Given the description of an element on the screen output the (x, y) to click on. 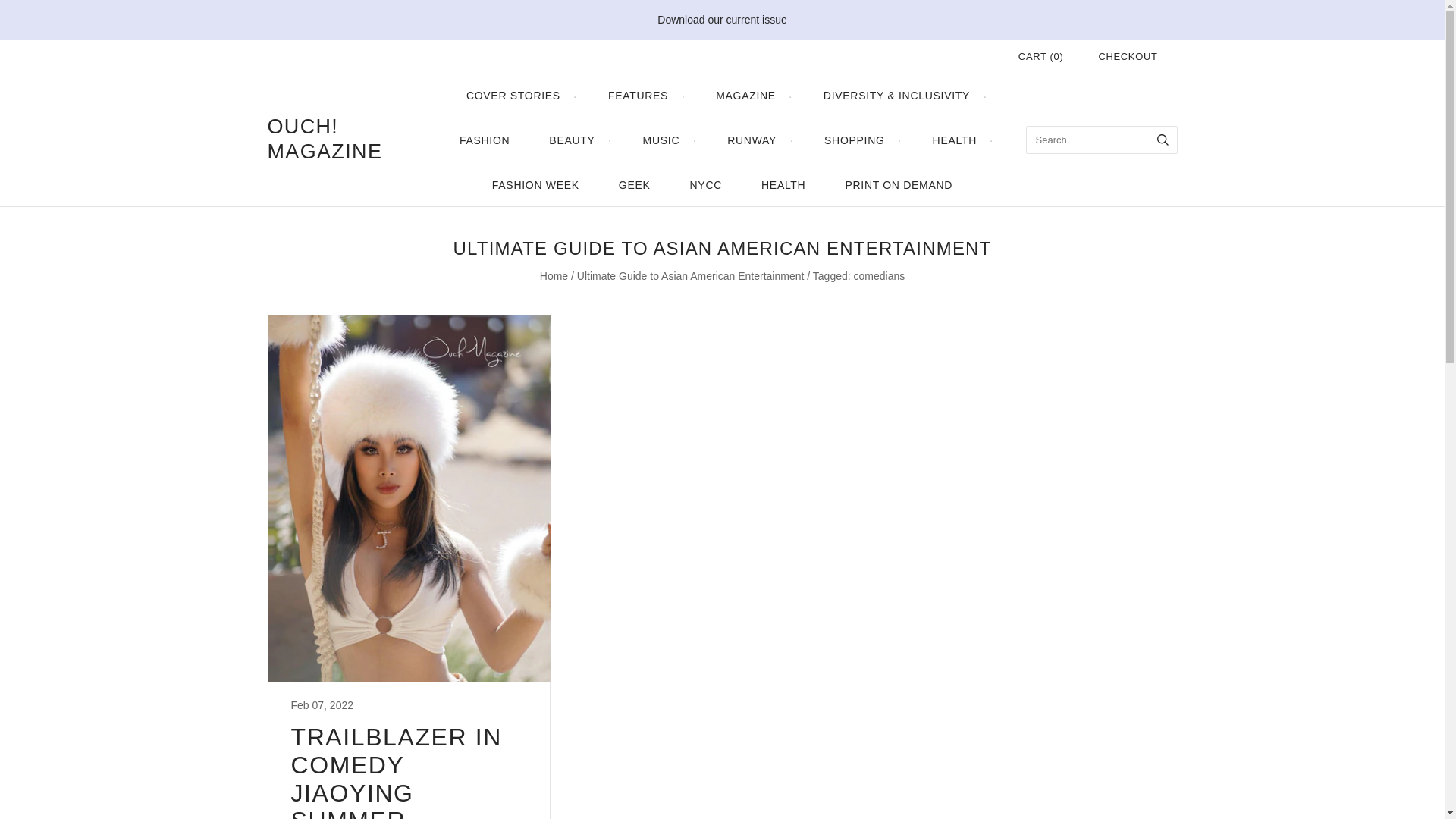
CHECKOUT (1127, 56)
FASHION (484, 139)
OUCH! MAGAZINE (342, 139)
